Given the description of an element on the screen output the (x, y) to click on. 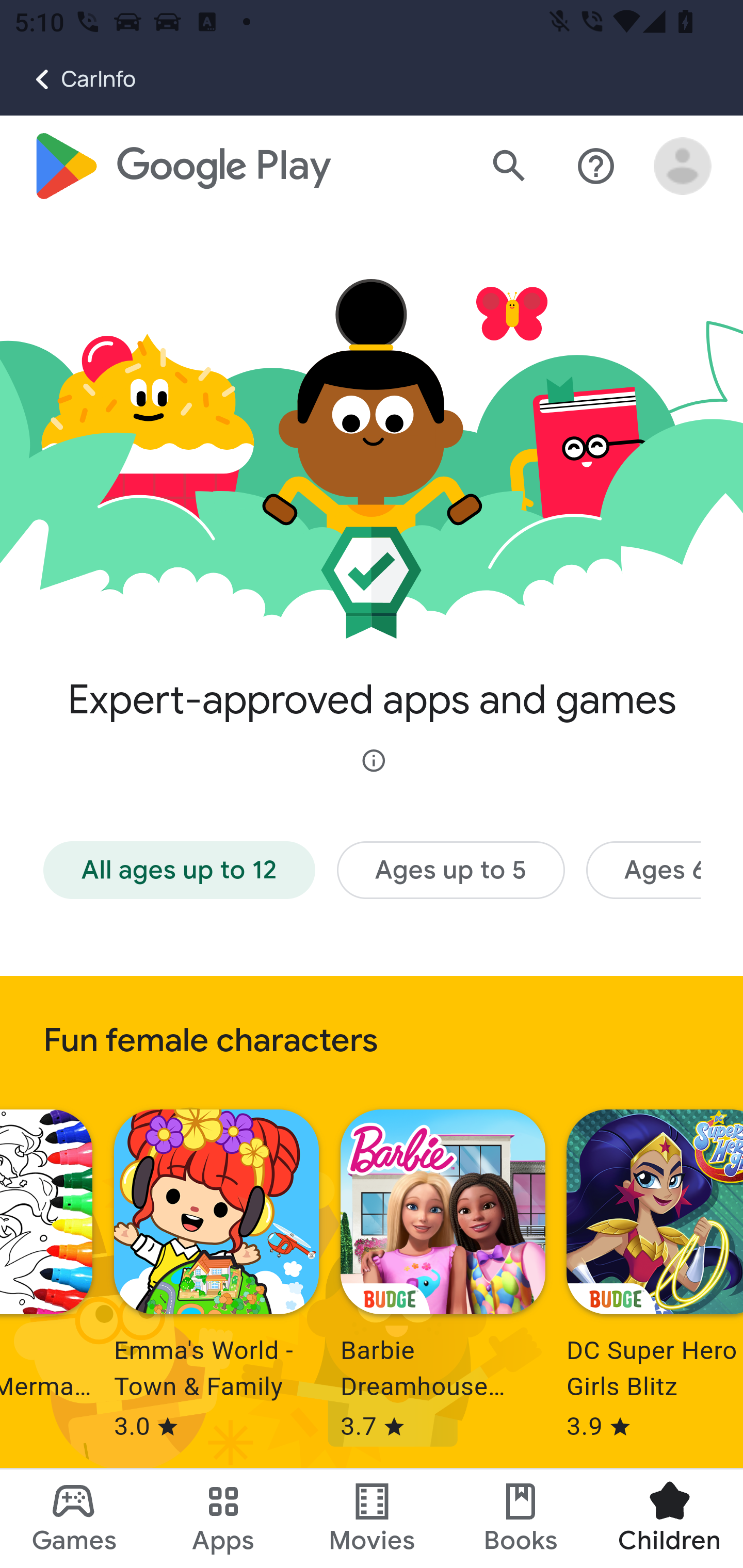
CarInfo (67, 79)
Google Play logo (180, 166)
Search (508, 166)
Help centre (596, 166)
Open account menu (682, 166)
All ages up to 12 (179, 871)
Ages up to 5 (449, 871)
Ages 6 to 8 (643, 871)
Games (74, 1518)
Apps (222, 1518)
Movies (372, 1518)
Books (520, 1518)
Children (668, 1518)
